Given the description of an element on the screen output the (x, y) to click on. 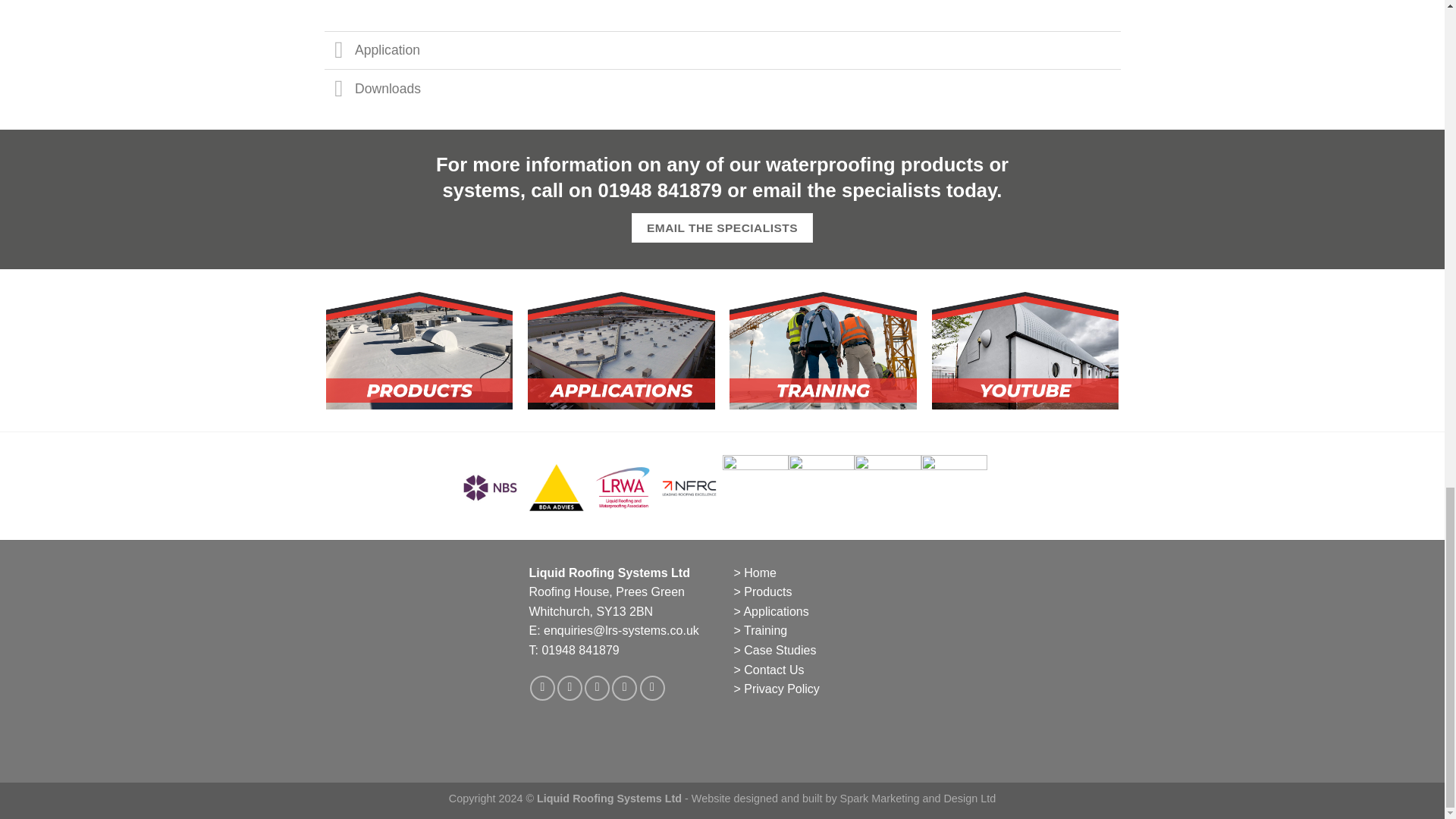
Follow on YouTube (652, 688)
Likebox Iframe (1029, 650)
Send us an email (597, 688)
Follow on Facebook (541, 688)
Follow on LinkedIn (624, 688)
Follow on Instagram (569, 688)
